Given the description of an element on the screen output the (x, y) to click on. 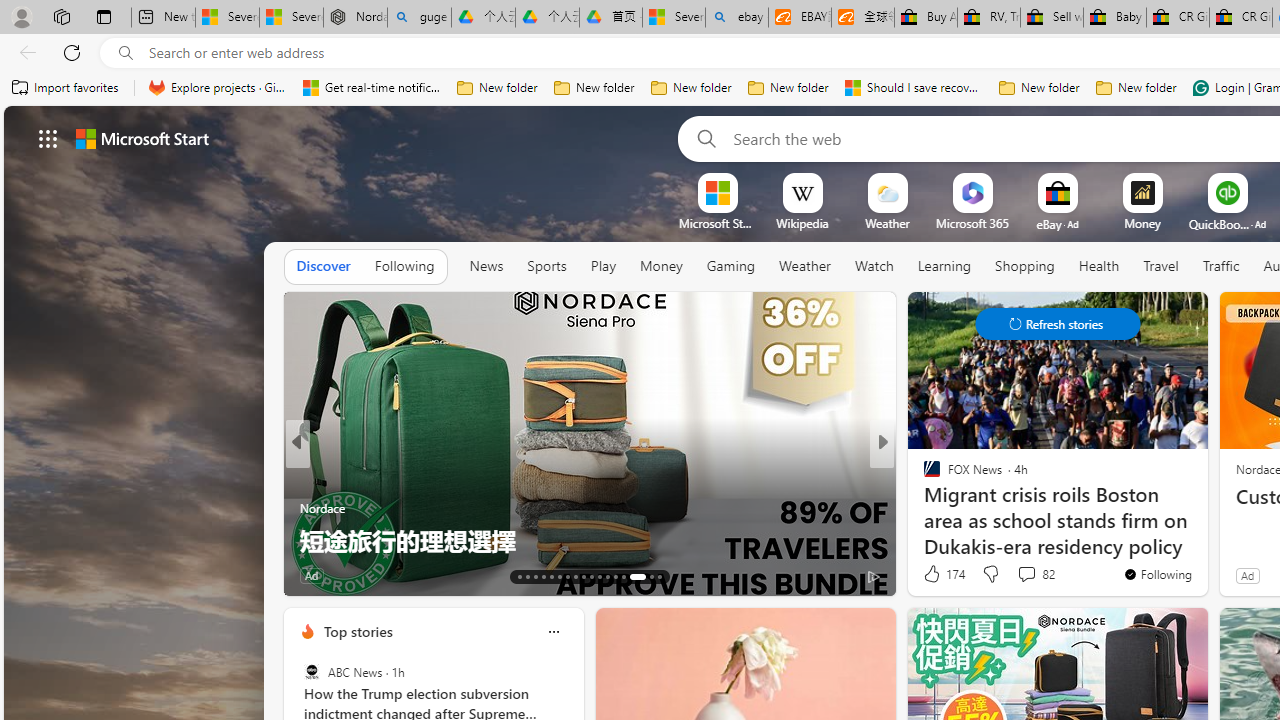
Weather (804, 265)
Microsoft 365 (971, 223)
Play (603, 267)
Traffic (1220, 267)
See more (263, 315)
Traffic (1220, 265)
174 Like (942, 574)
Microsoft start (142, 138)
AutomationID: tab-23 (599, 576)
RV, Trailer & Camper Steps & Ladders for sale | eBay (988, 17)
AutomationID: waffle (47, 138)
AutomationID: tab-17 (550, 576)
Play (602, 265)
View comments 2 Comment (403, 574)
